Given the description of an element on the screen output the (x, y) to click on. 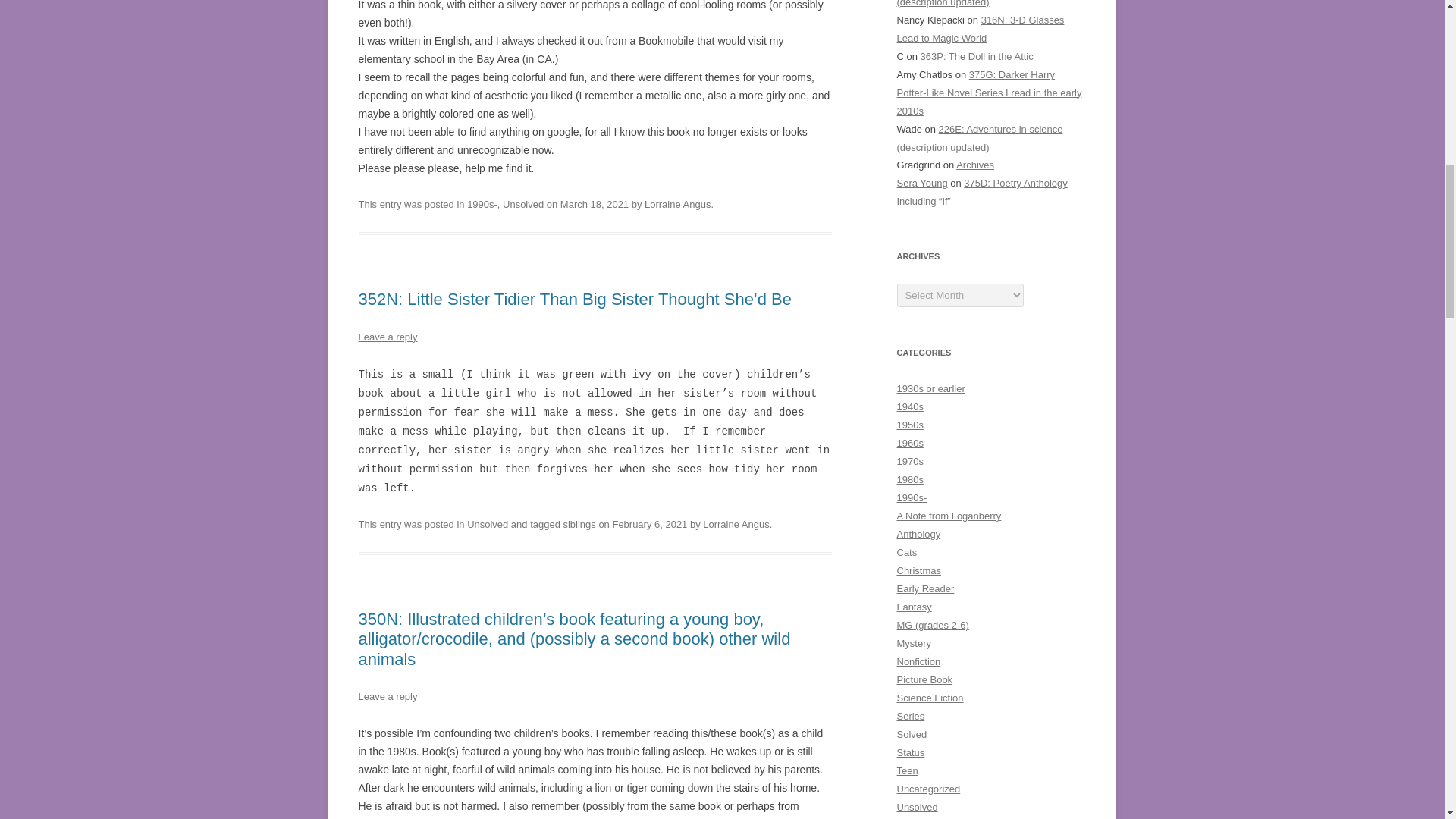
Leave a reply (387, 337)
Unsolved (487, 523)
Lorraine Angus (735, 523)
3:23 pm (594, 204)
siblings (578, 523)
View all posts by Lorraine Angus (677, 204)
Lorraine Angus (677, 204)
Unsolved (522, 204)
Leave a reply (387, 696)
1990s- (482, 204)
February 6, 2021 (649, 523)
5:14 pm (649, 523)
March 18, 2021 (594, 204)
View all posts by Lorraine Angus (735, 523)
